Given the description of an element on the screen output the (x, y) to click on. 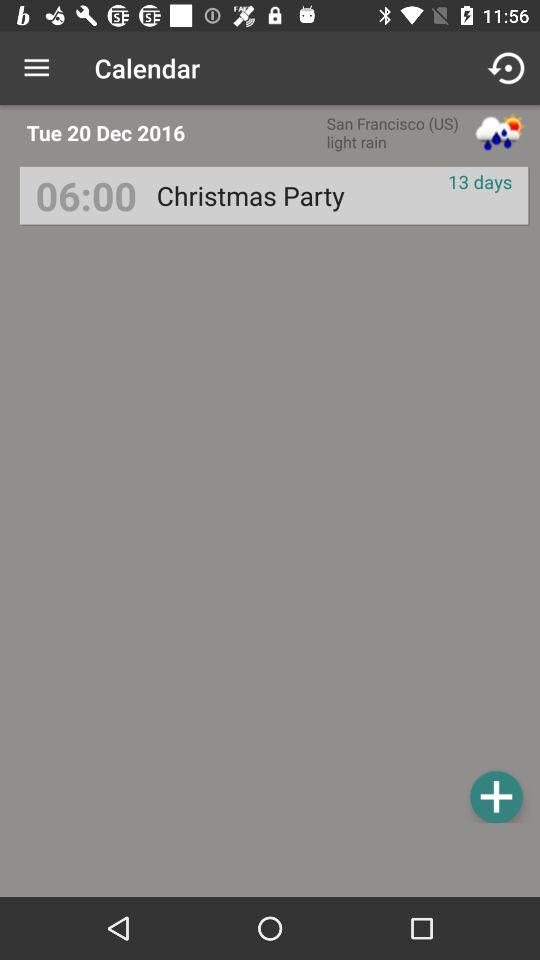
turn off the 13 days item (480, 181)
